Given the description of an element on the screen output the (x, y) to click on. 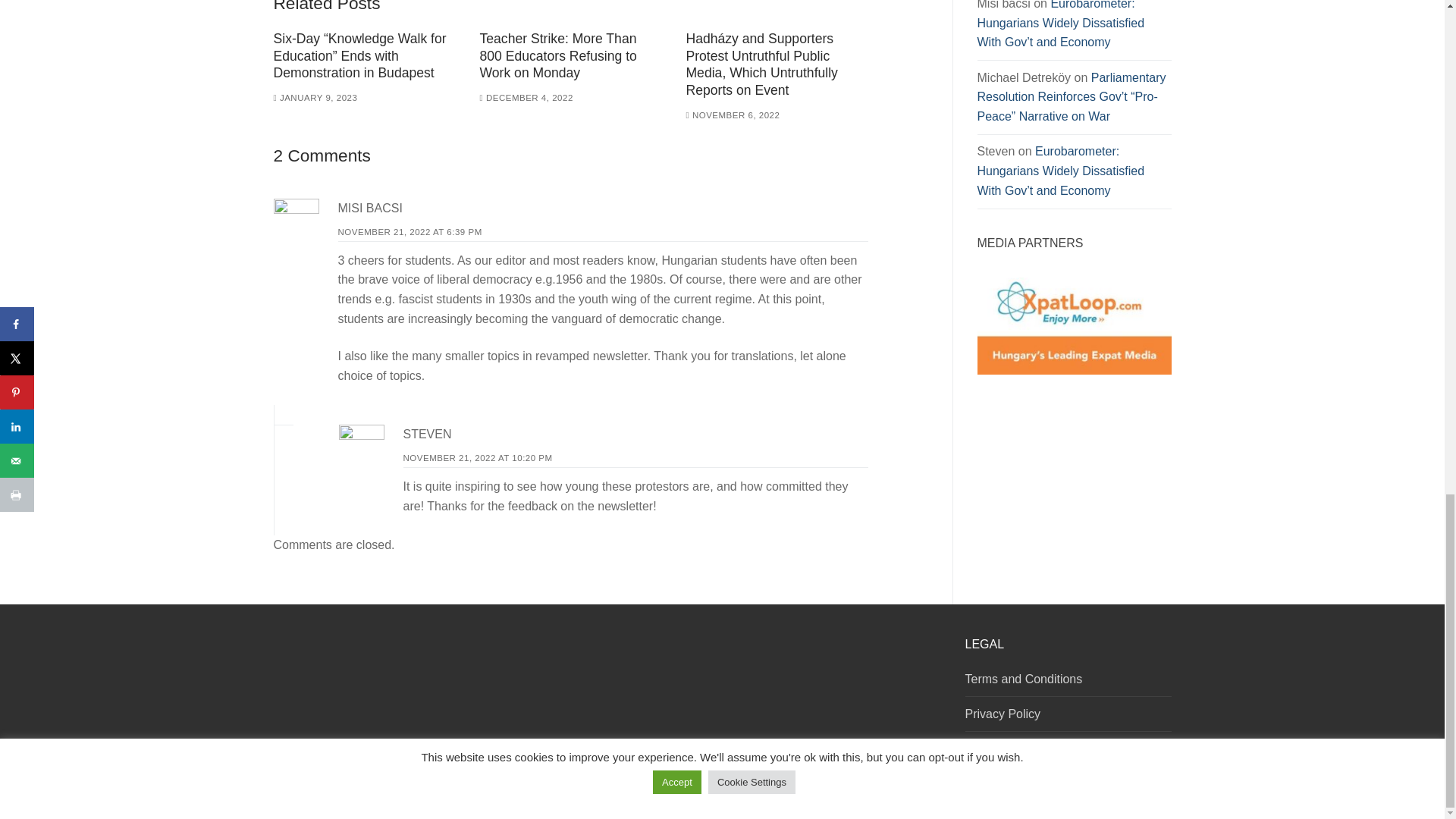
NOVEMBER 6, 2022 (731, 114)
Twitter (915, 791)
Youtube (932, 791)
Facebook (896, 791)
JANUARY 9, 2023 (314, 97)
DECEMBER 4, 2022 (525, 97)
